Given the description of an element on the screen output the (x, y) to click on. 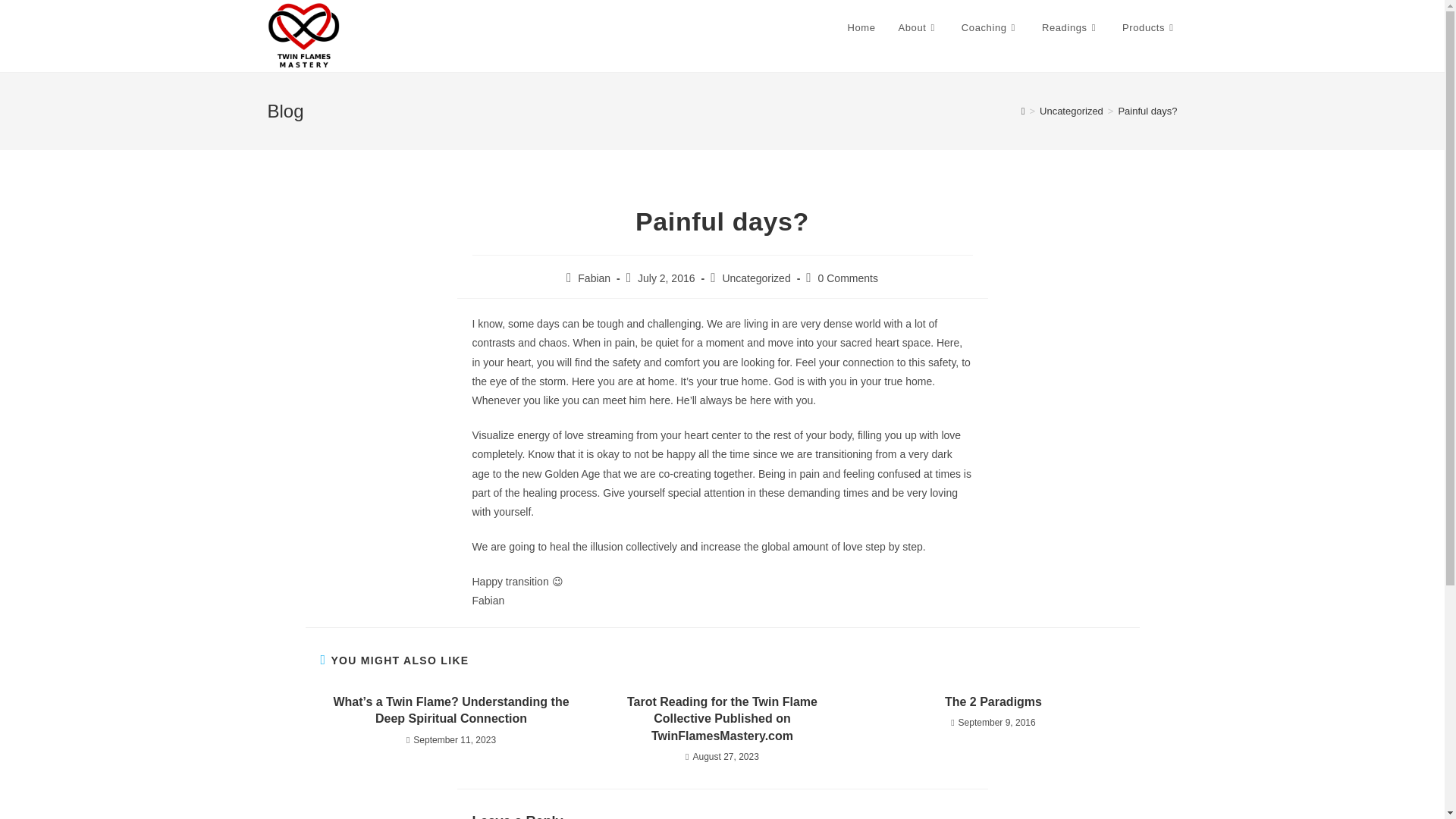
Posts by Fabian (594, 277)
Home (860, 28)
Readings (1070, 28)
About (918, 28)
Products (1149, 28)
Coaching (990, 28)
